Given the description of an element on the screen output the (x, y) to click on. 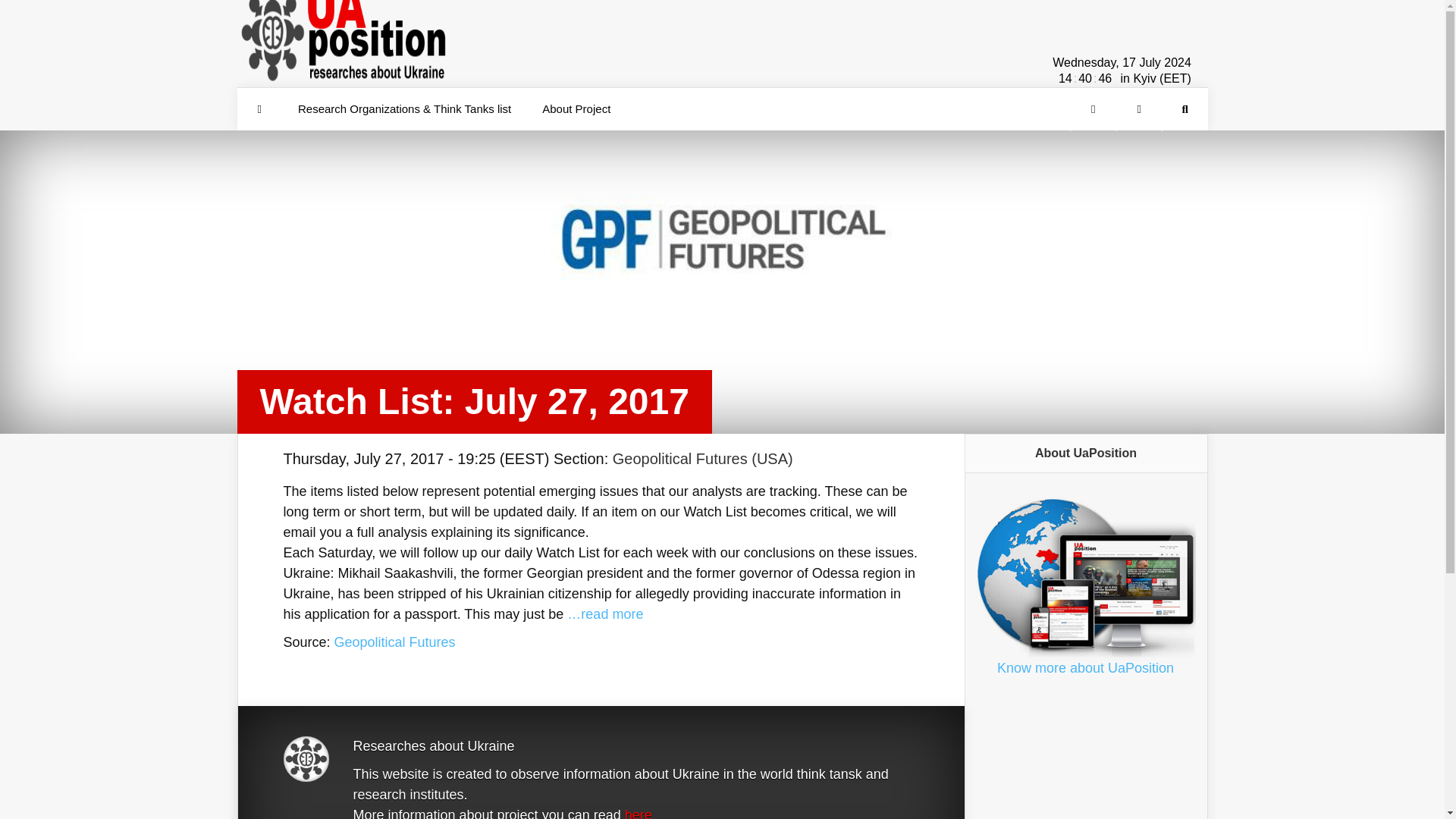
About Project (575, 108)
here (638, 813)
Watch List: July 27, 2017 (394, 642)
Geopolitical Futures (394, 642)
Know more about UaPosition project (1085, 667)
Know more about UaPosition (1085, 667)
